Given the description of an element on the screen output the (x, y) to click on. 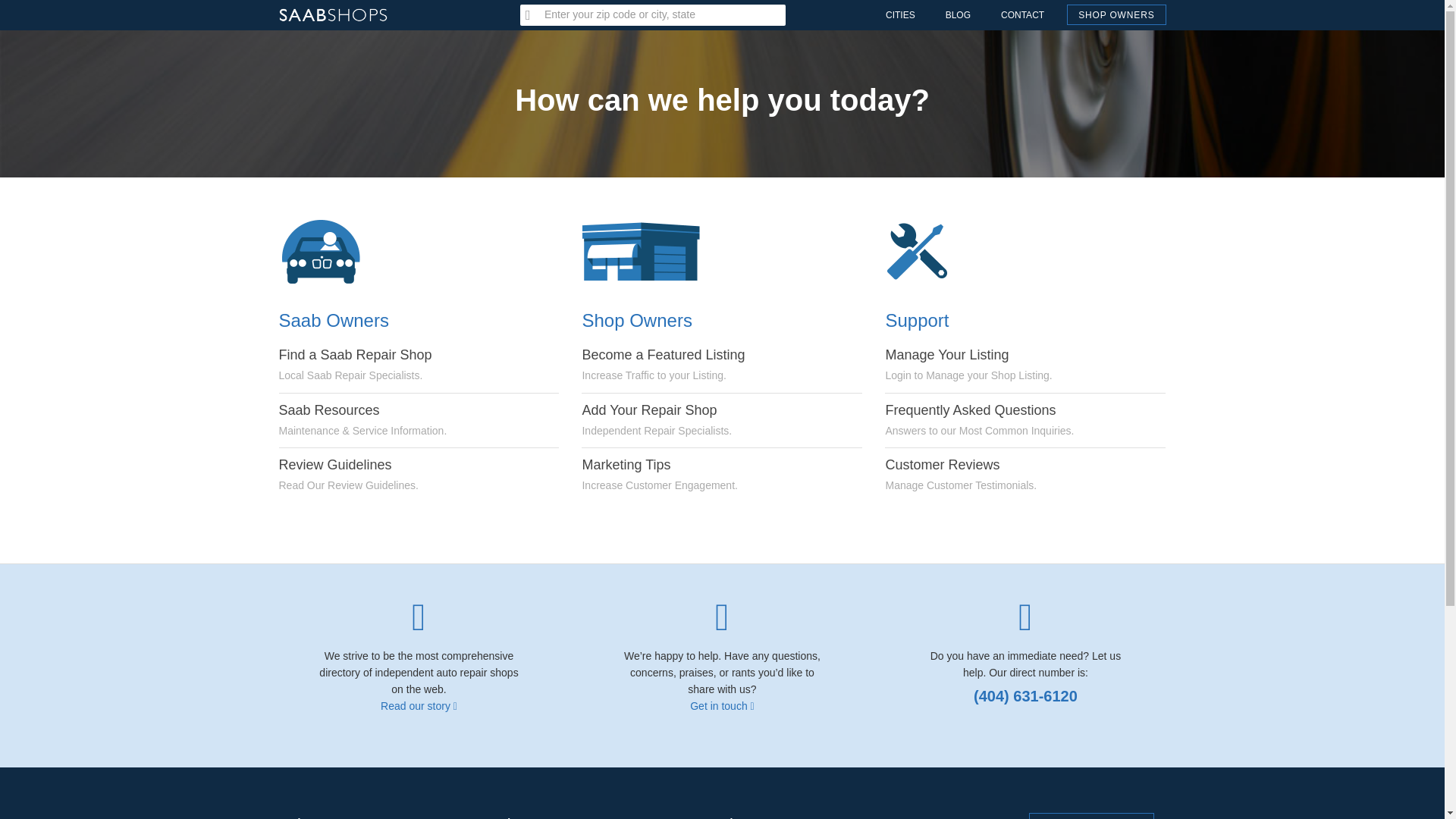
Support (968, 364)
SaabShops (944, 251)
SHOP OWNERS (333, 7)
Read our story (1116, 14)
BLOG (662, 364)
Shop Owners (658, 474)
SaabShops (418, 705)
CITIES (957, 15)
CONTACT (960, 474)
